Given the description of an element on the screen output the (x, y) to click on. 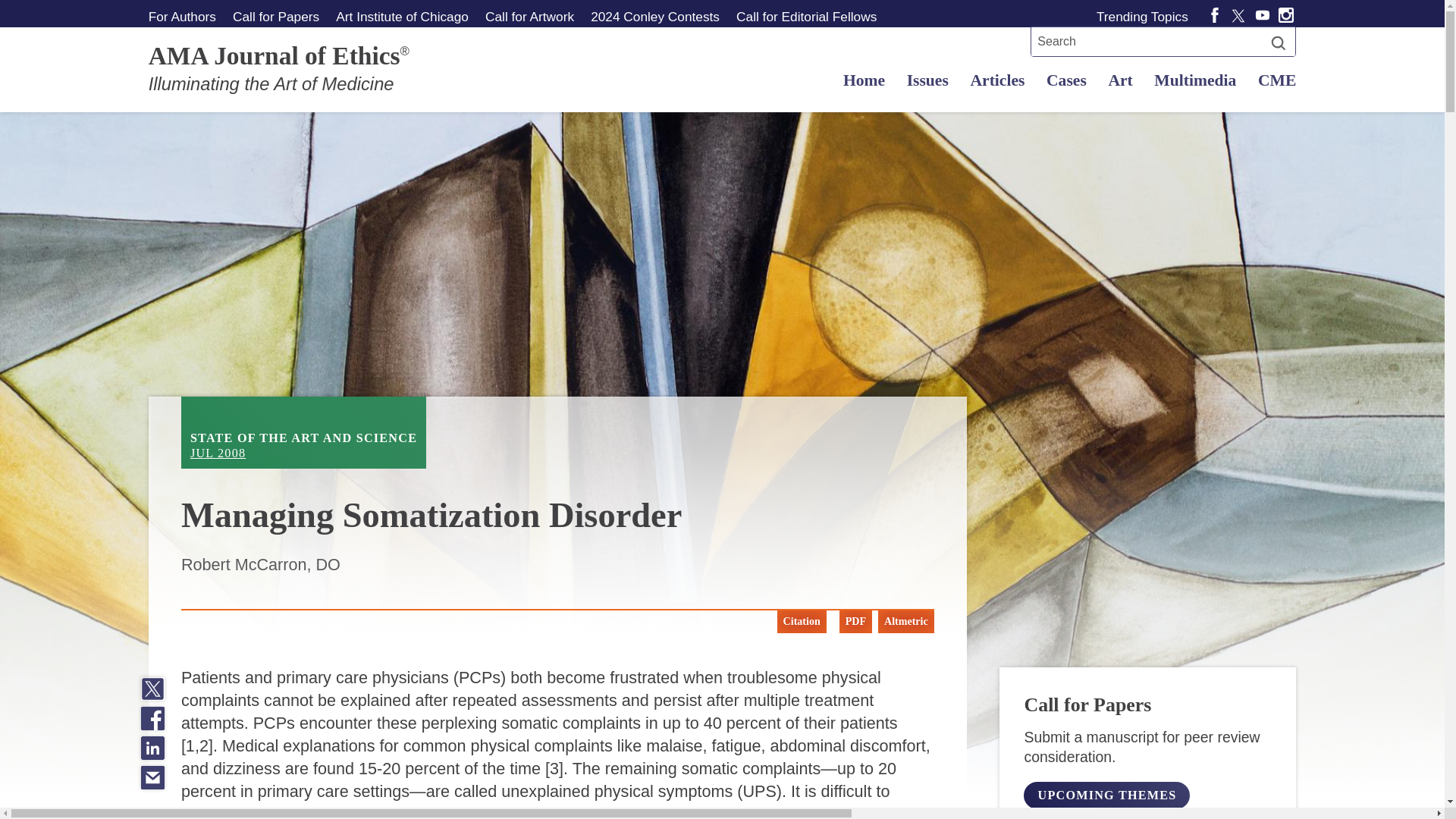
Search (1278, 42)
alt (1106, 795)
Altmetric (905, 621)
PDF (852, 621)
Trending Topics (1145, 15)
Articles (996, 80)
PDF (856, 621)
Issues (927, 80)
2024 Conley Contests (303, 432)
Altmetric (654, 15)
Cases (903, 621)
Multimedia (1065, 80)
